Given the description of an element on the screen output the (x, y) to click on. 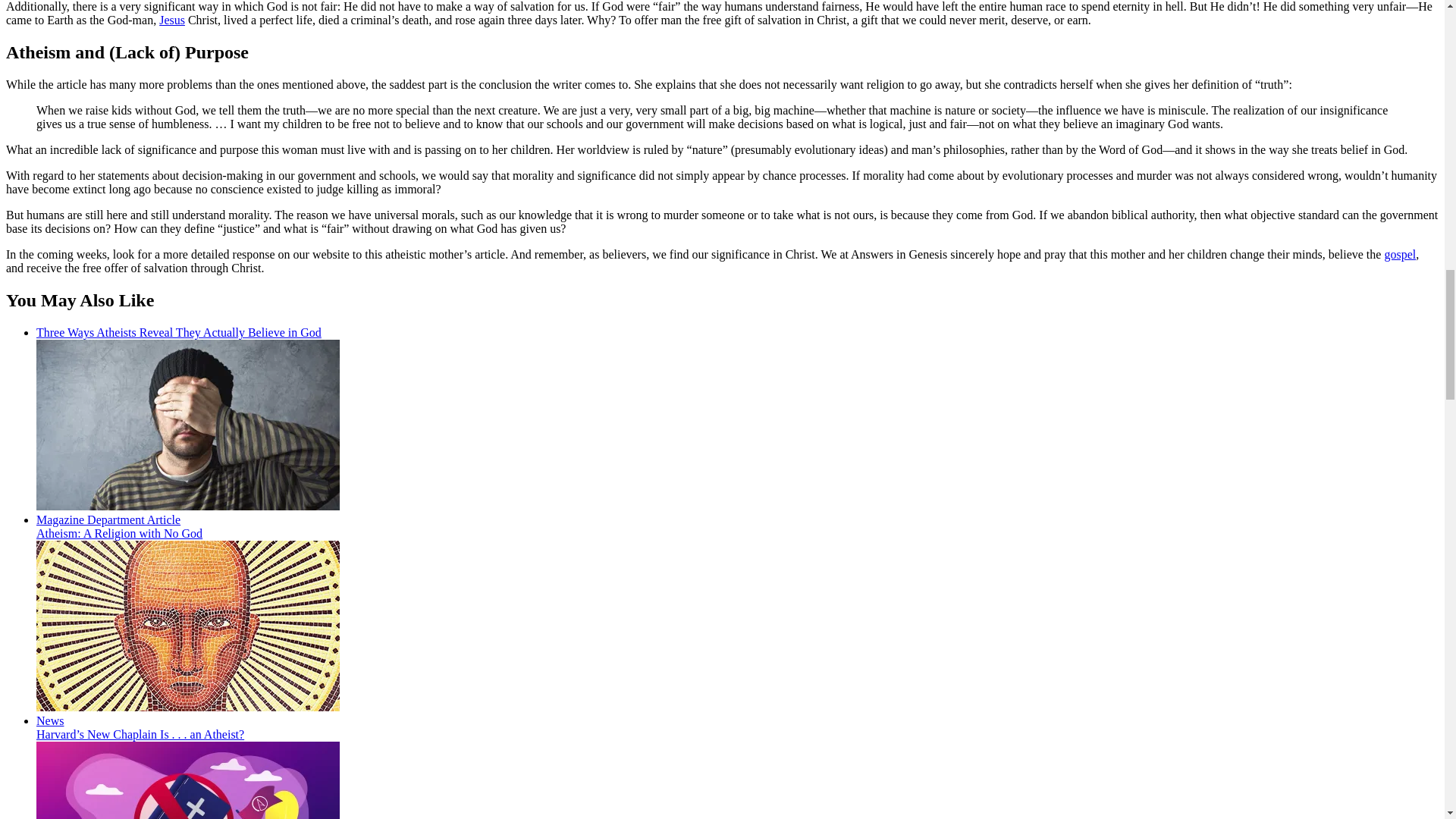
Jesus (171, 19)
gospel (1399, 254)
